Given the description of an element on the screen output the (x, y) to click on. 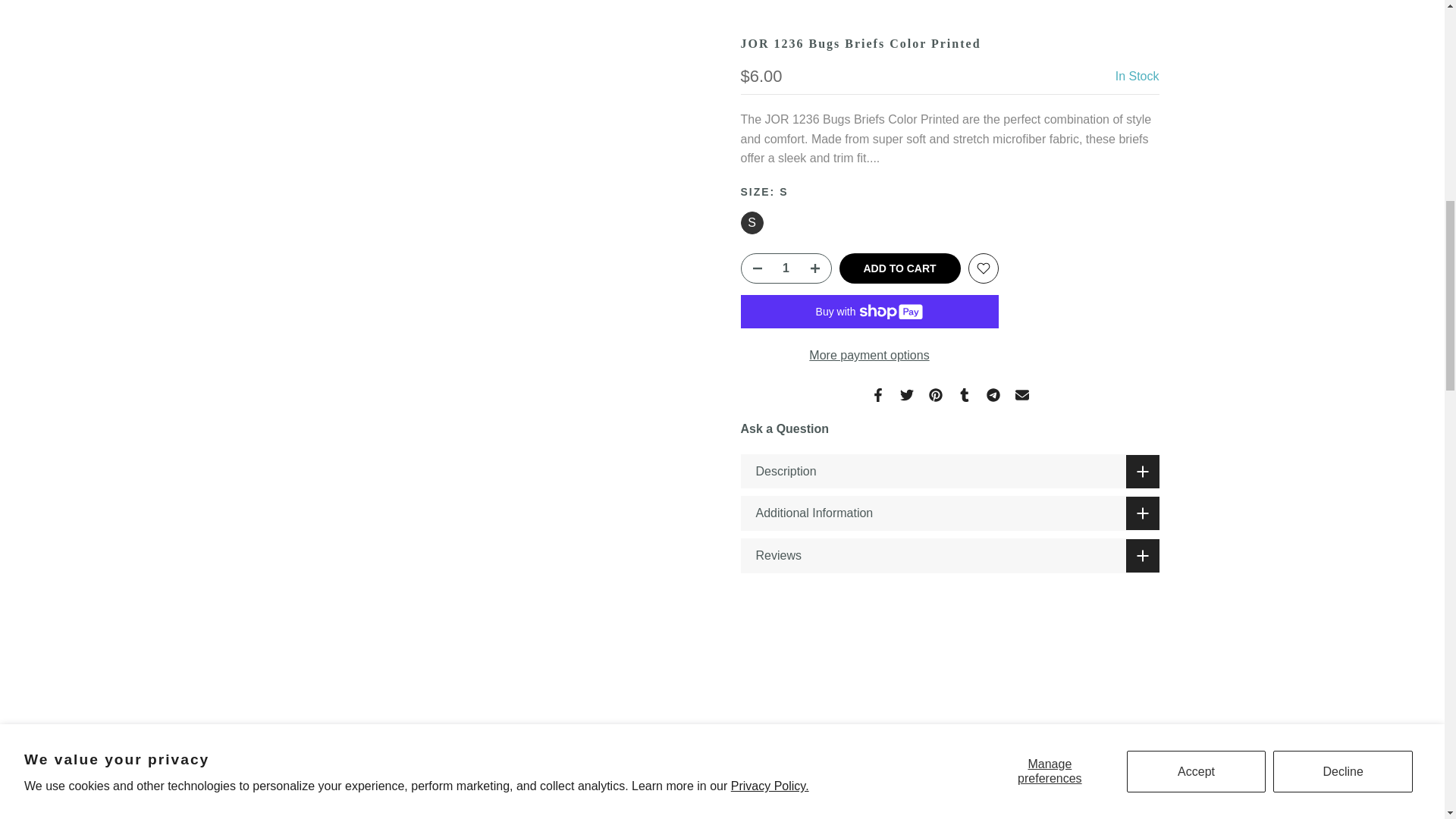
1 (883, 35)
